Given the description of an element on the screen output the (x, y) to click on. 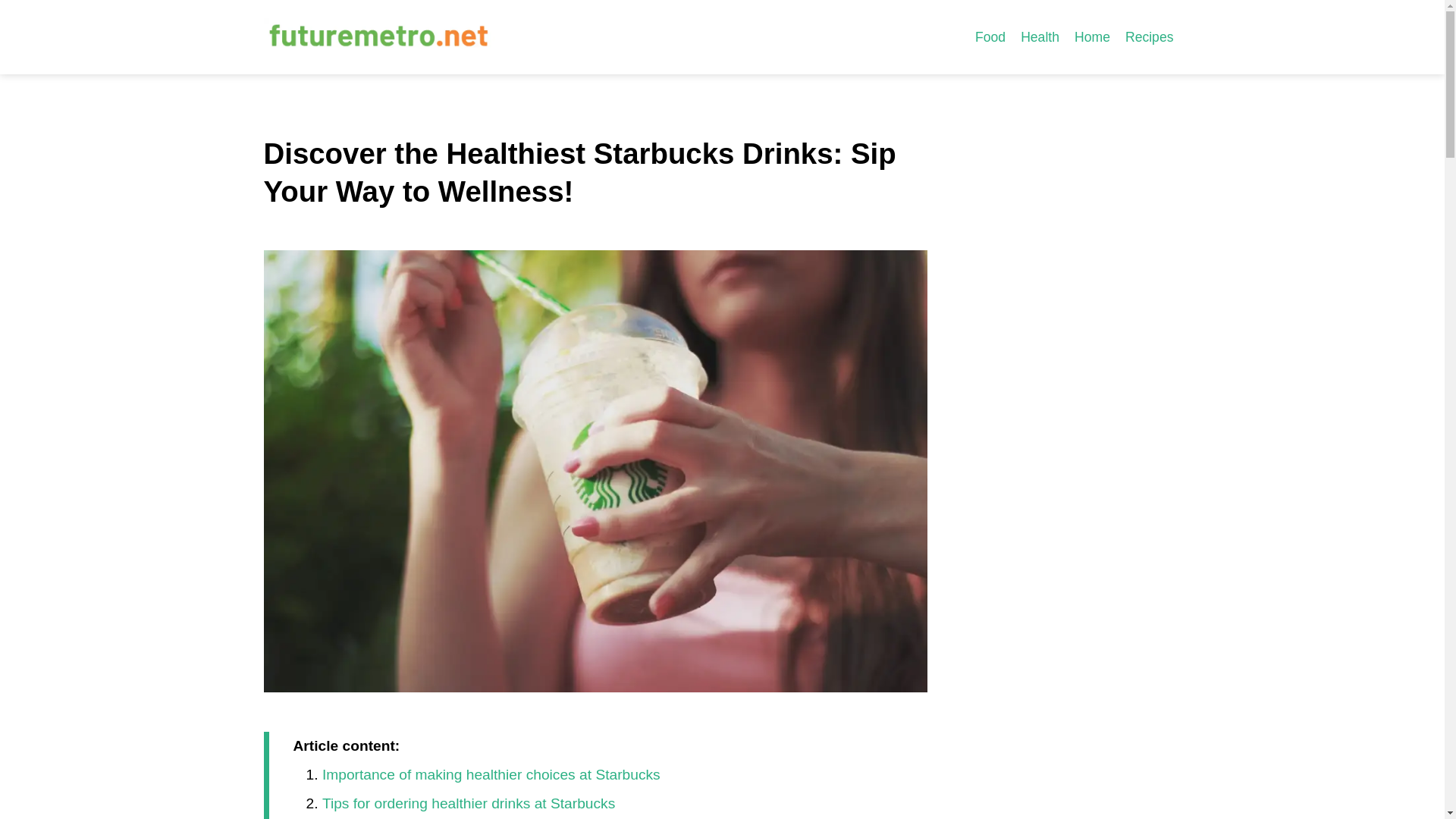
Food (990, 36)
Importance of making healthier choices at Starbucks (491, 774)
Home (1092, 36)
Health (1040, 36)
Recipes (1149, 36)
Tips for ordering healthier drinks at Starbucks (467, 803)
